Given the description of an element on the screen output the (x, y) to click on. 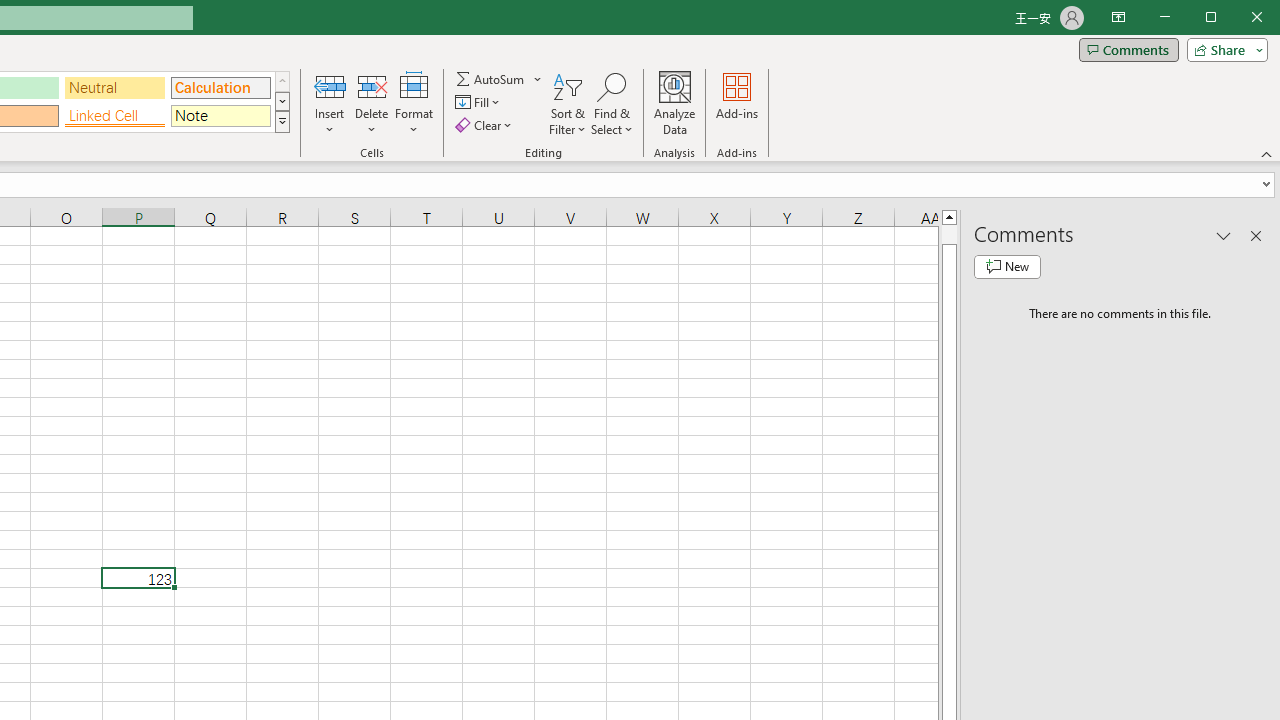
Fill (478, 101)
Sum (491, 78)
Find & Select (612, 104)
Delete Cells... (371, 86)
Sort & Filter (567, 104)
Calculation (220, 88)
New comment (1007, 266)
